Given the description of an element on the screen output the (x, y) to click on. 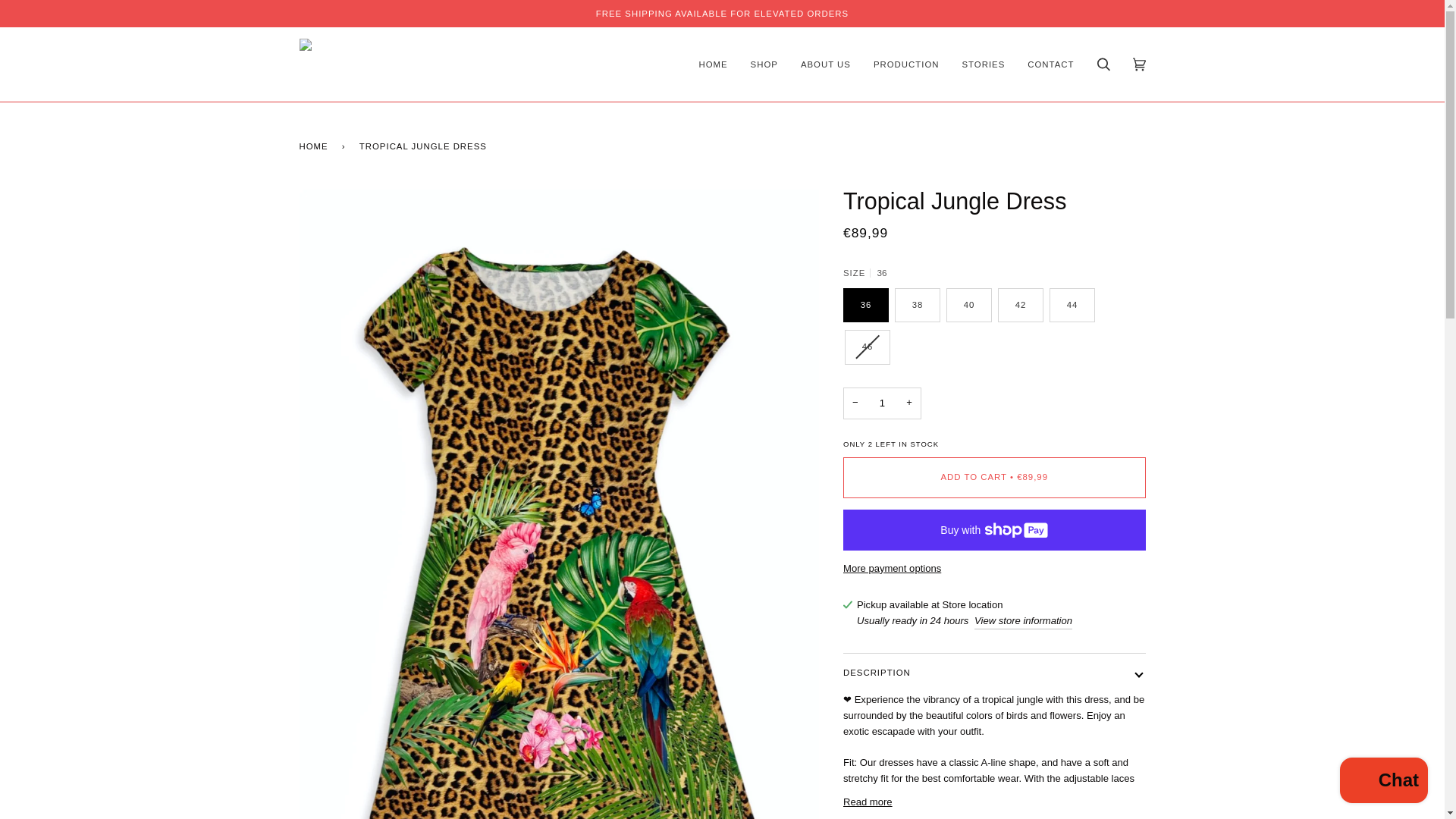
Shopify online store chat (1383, 781)
1 (882, 403)
Back to the frontpage (315, 146)
